Given the description of an element on the screen output the (x, y) to click on. 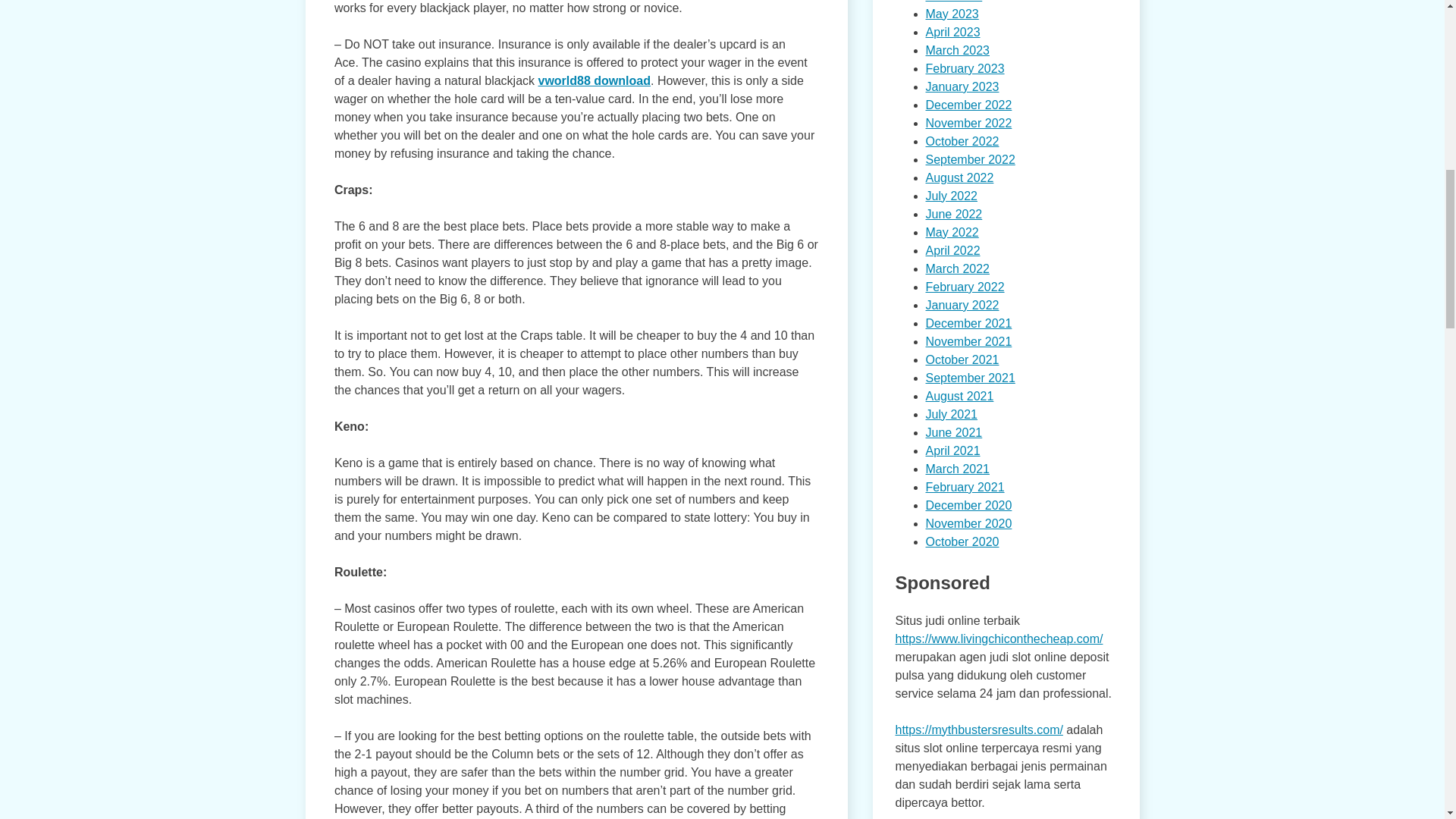
May 2023 (951, 13)
vworld88 download (594, 80)
June 2023 (952, 1)
April 2023 (951, 31)
